Given the description of an element on the screen output the (x, y) to click on. 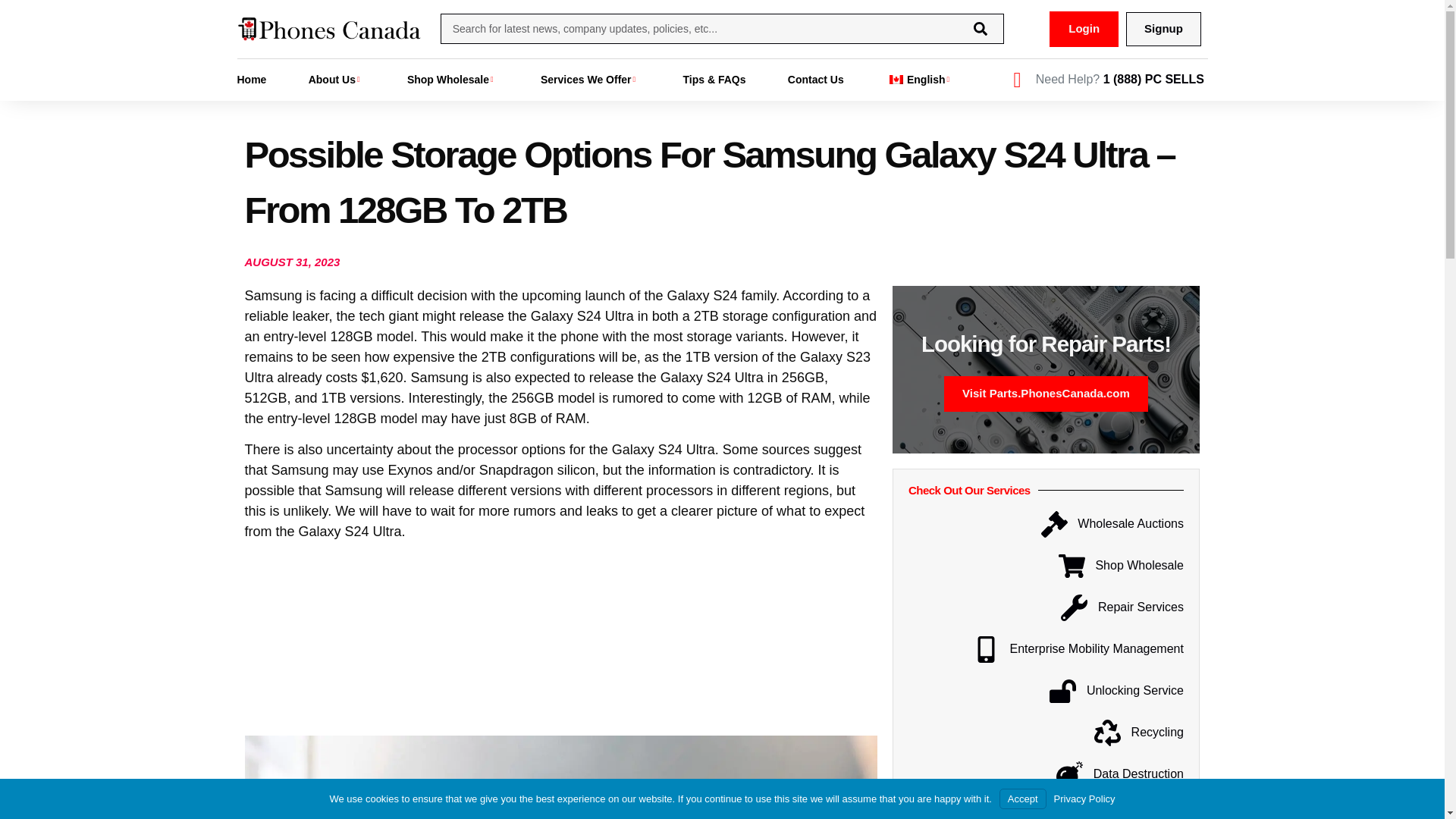
English (895, 78)
Advertisement (560, 644)
Signup (1163, 28)
Login (1083, 28)
